Given the description of an element on the screen output the (x, y) to click on. 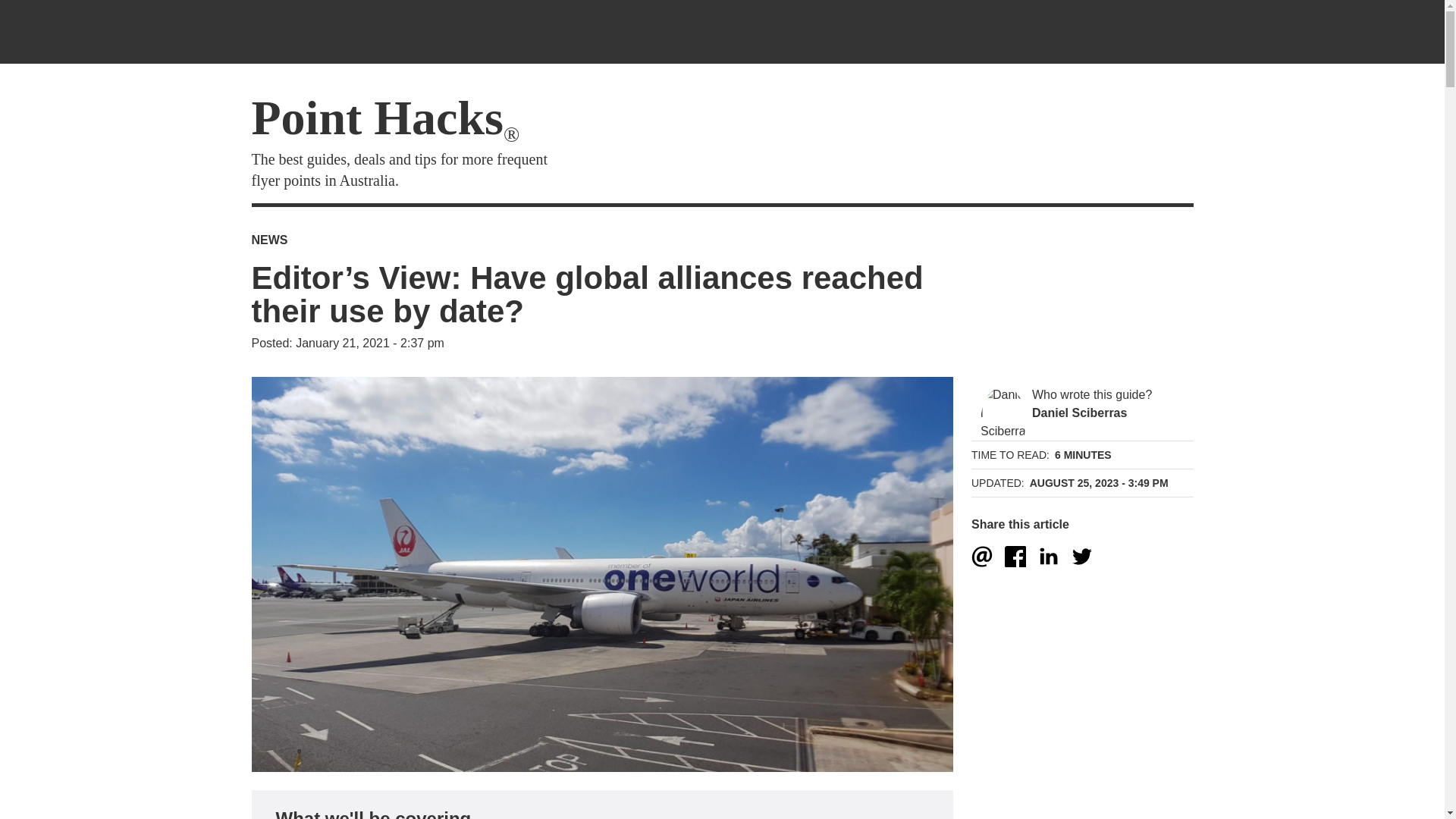
Daniel Sciberras (1079, 412)
Daniel Sciberras (1002, 449)
Email (981, 556)
